Given the description of an element on the screen output the (x, y) to click on. 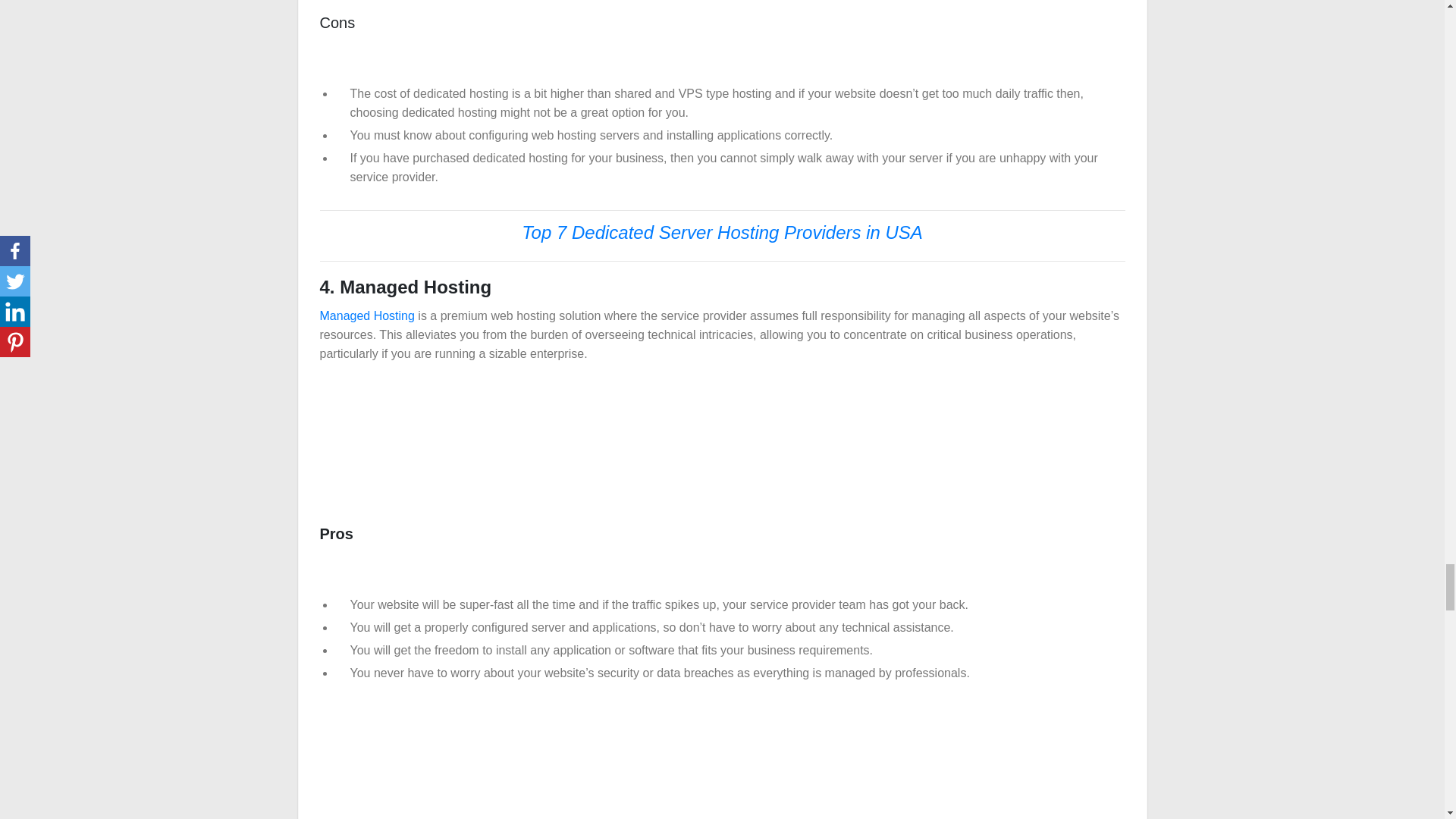
Top 7 Dedicated Server Hosting Providers in USA (722, 234)
Managed Hosting (367, 315)
